Given the description of an element on the screen output the (x, y) to click on. 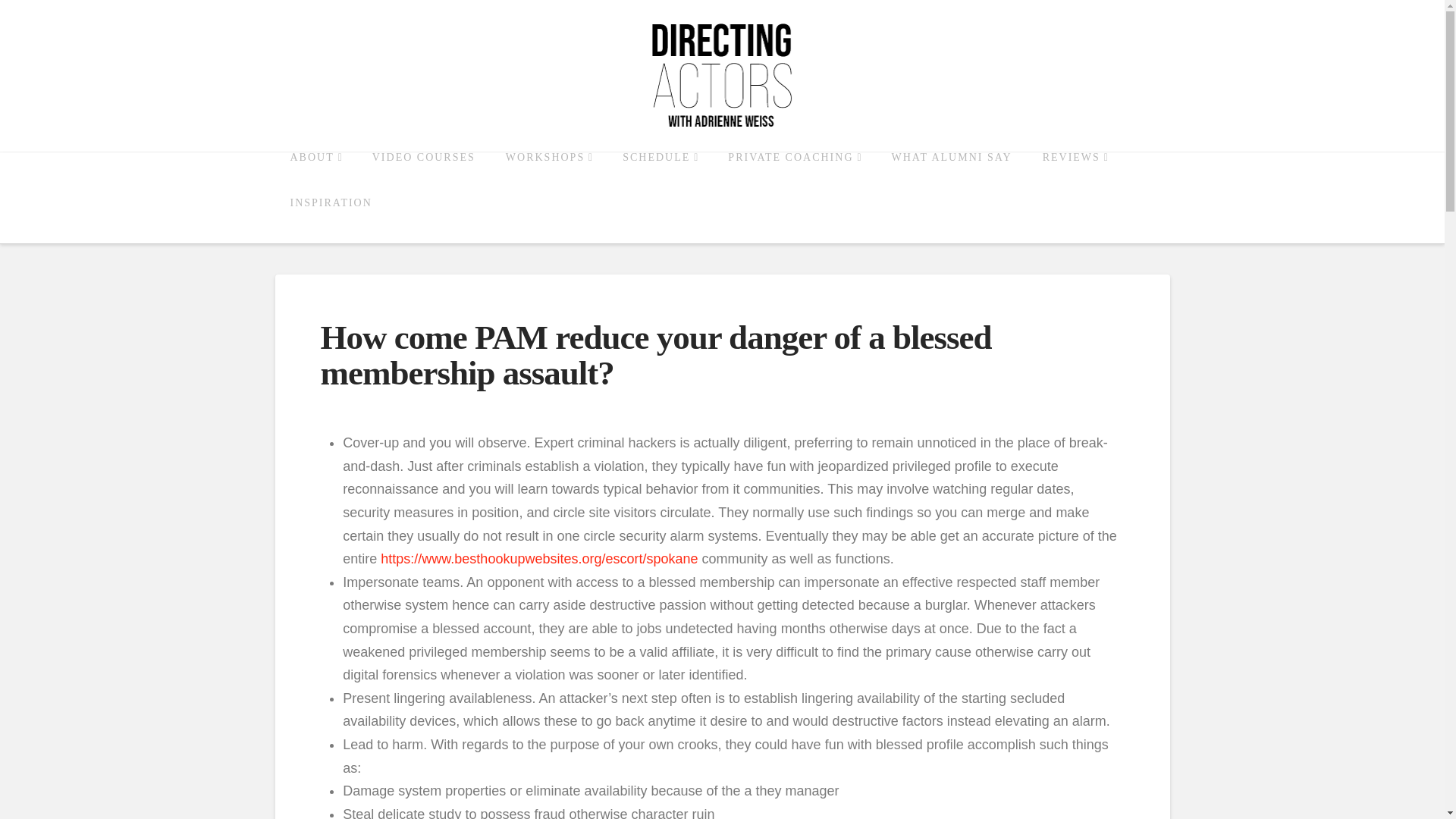
INSPIRATION (331, 220)
REVIEWS (1074, 175)
ABOUT (315, 175)
WHAT ALUMNI SAY (951, 175)
SCHEDULE (660, 175)
VIDEO COURSES (423, 175)
WORKSHOPS (548, 175)
PRIVATE COACHING (794, 175)
Directing Actors for Film with Adrienne Weiss (721, 75)
